Given the description of an element on the screen output the (x, y) to click on. 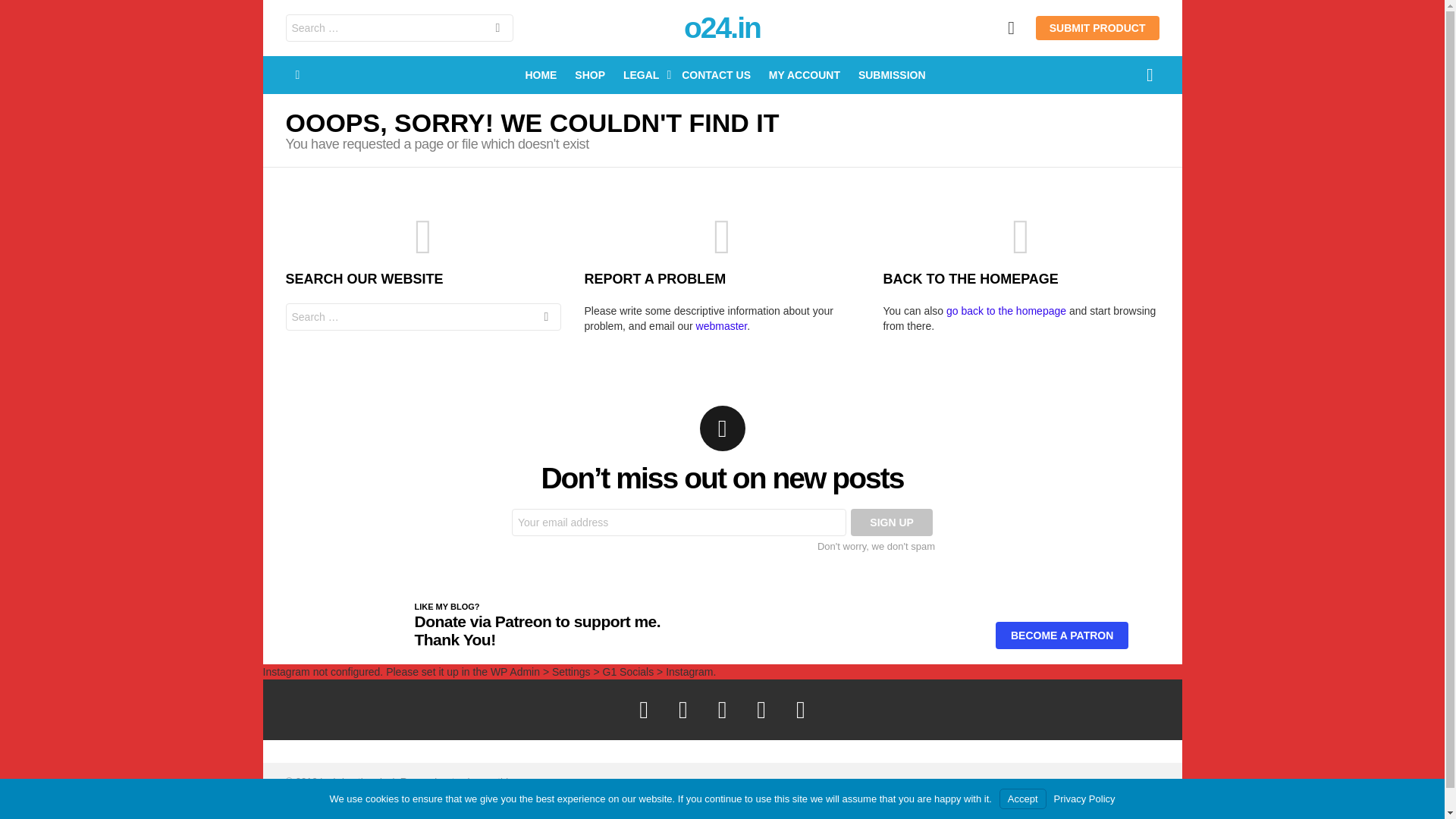
SEARCH (537, 630)
youtube (545, 318)
Search for: (830, 785)
pinterest (422, 316)
SHOP (806, 785)
SUBMISSION (589, 74)
Search for: (891, 74)
Sign up (398, 27)
instagram (891, 522)
